Given the description of an element on the screen output the (x, y) to click on. 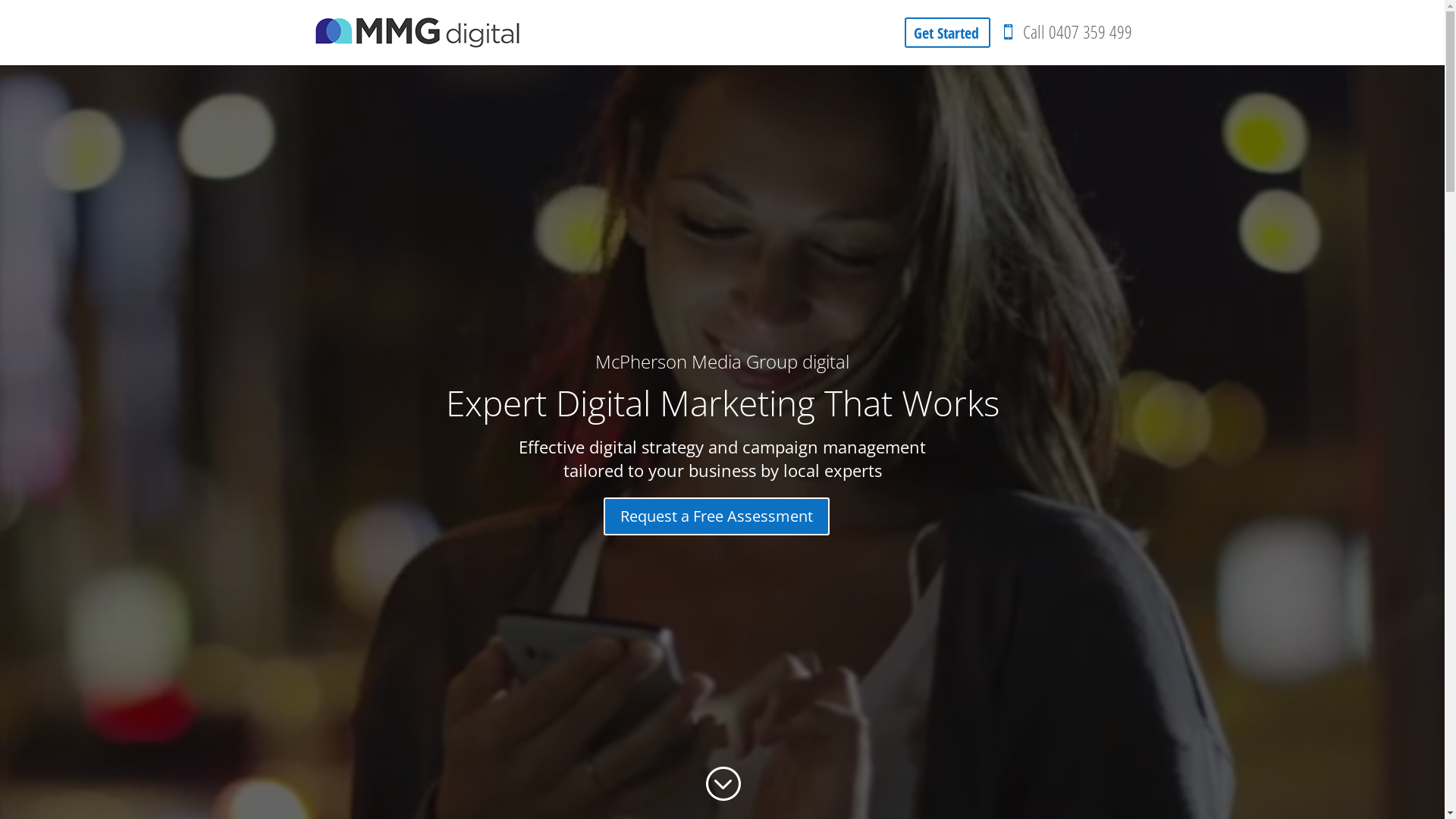
; Element type: text (721, 783)
Get Started Element type: text (945, 33)
Request a Free Assessment Element type: text (716, 516)
